Given the description of an element on the screen output the (x, y) to click on. 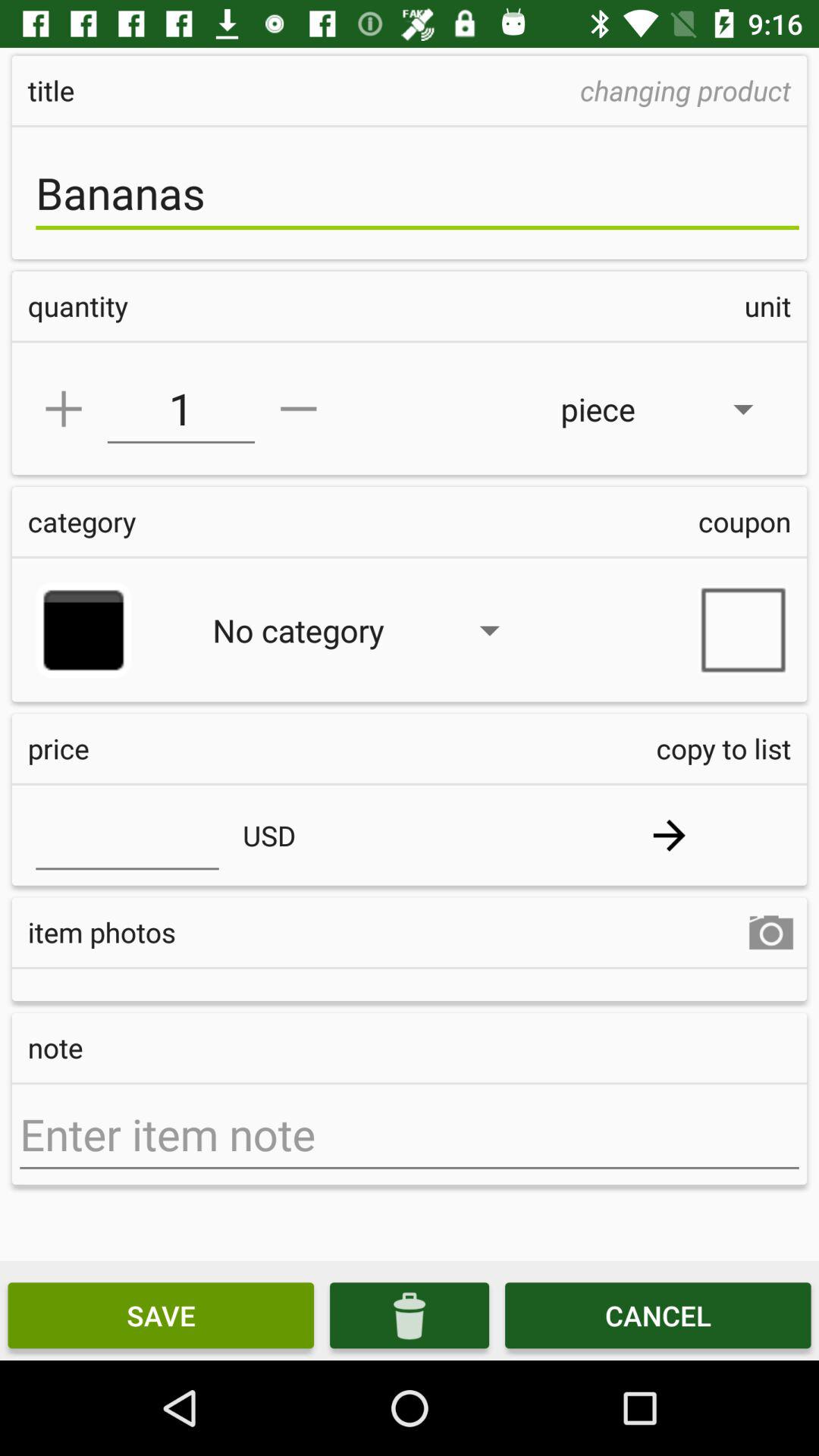
turn off the item next to cancel icon (409, 1315)
